Given the description of an element on the screen output the (x, y) to click on. 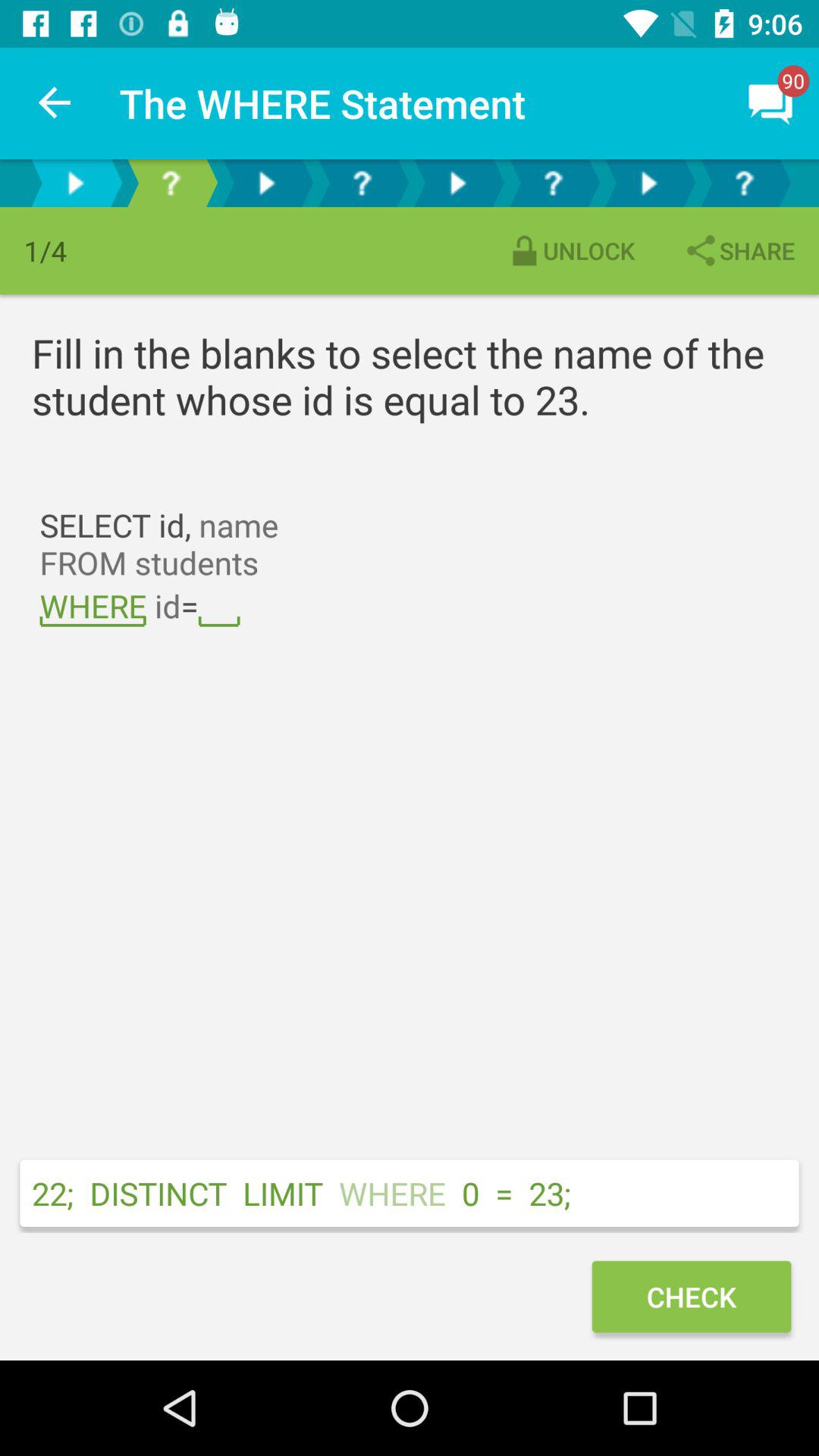
play (457, 183)
